Given the description of an element on the screen output the (x, y) to click on. 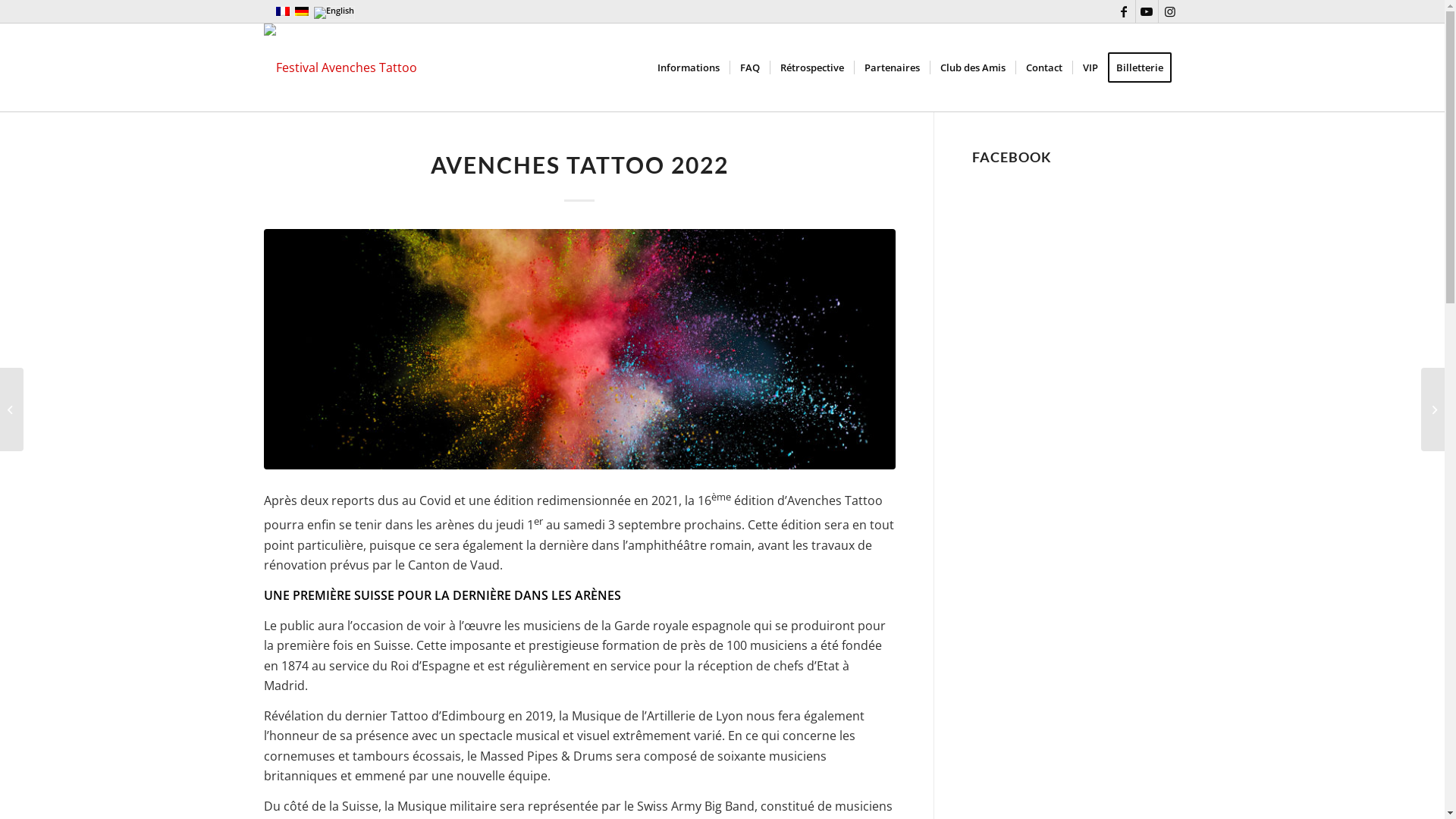
VIP Element type: text (1089, 67)
Contact Element type: text (1042, 67)
Youtube Element type: hover (1146, 11)
Deutsch Element type: hover (301, 11)
Facebook Element type: hover (1124, 11)
Informations Element type: text (688, 67)
Club des Amis Element type: text (972, 67)
Partenaires Element type: text (891, 67)
English Element type: hover (333, 12)
FAQ Element type: text (749, 67)
Instagram Element type: hover (1169, 11)
Billetterie Element type: text (1143, 67)
